Given the description of an element on the screen output the (x, y) to click on. 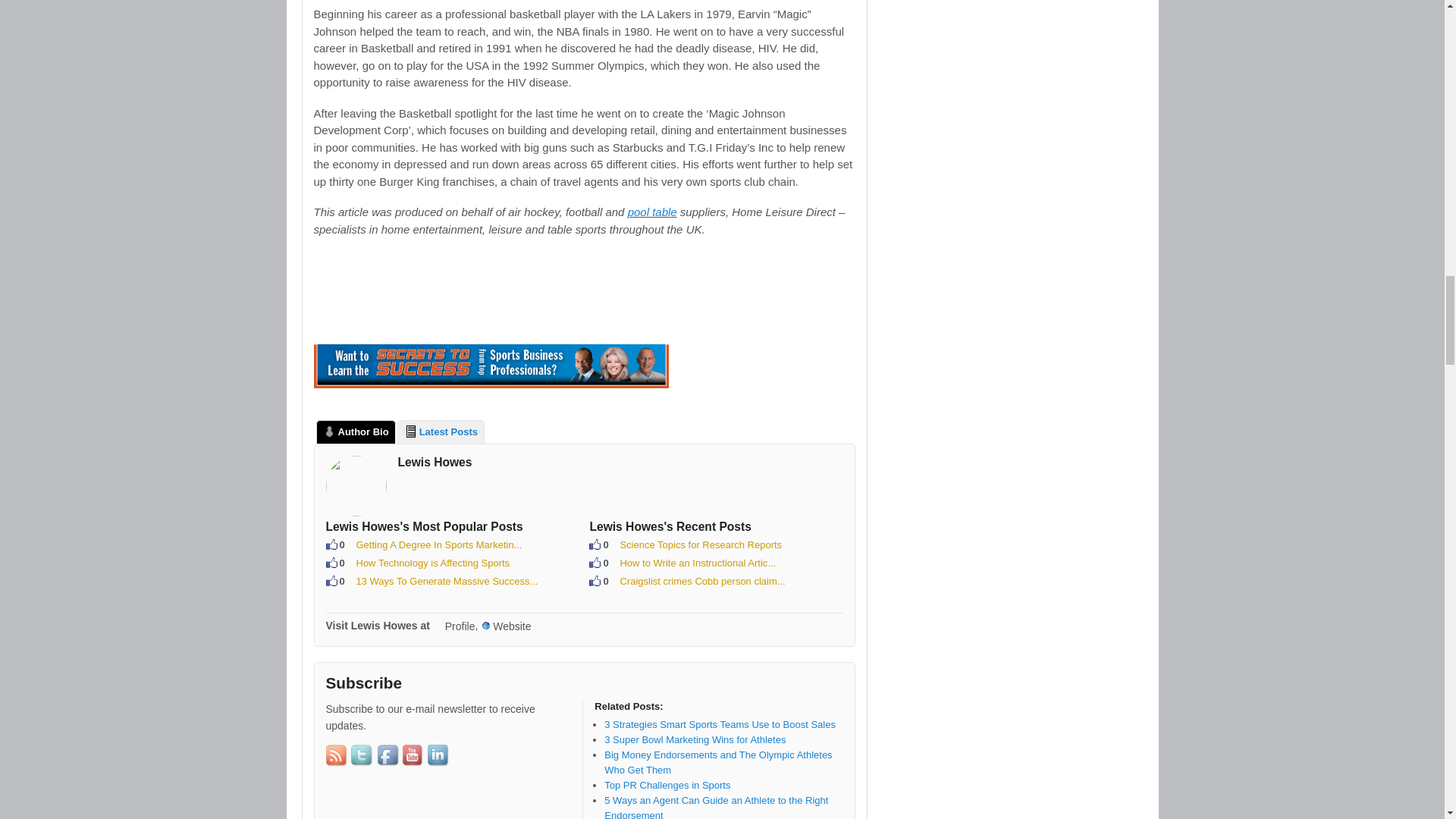
Getting A Degree In Sports Marketing (439, 544)
